Given the description of an element on the screen output the (x, y) to click on. 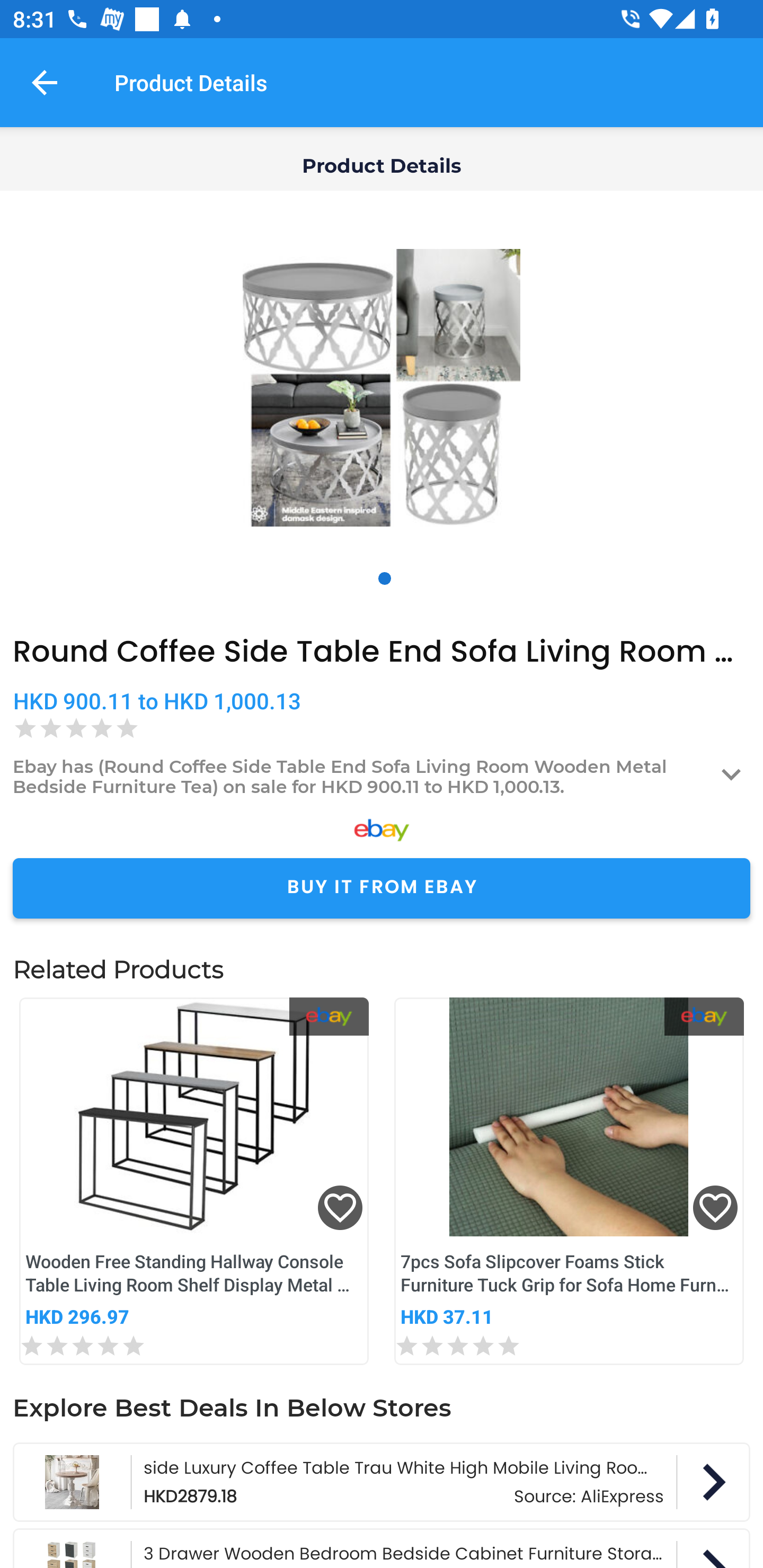
Navigate up (44, 82)
BUY IT FROM EBAY (381, 888)
